Given the description of an element on the screen output the (x, y) to click on. 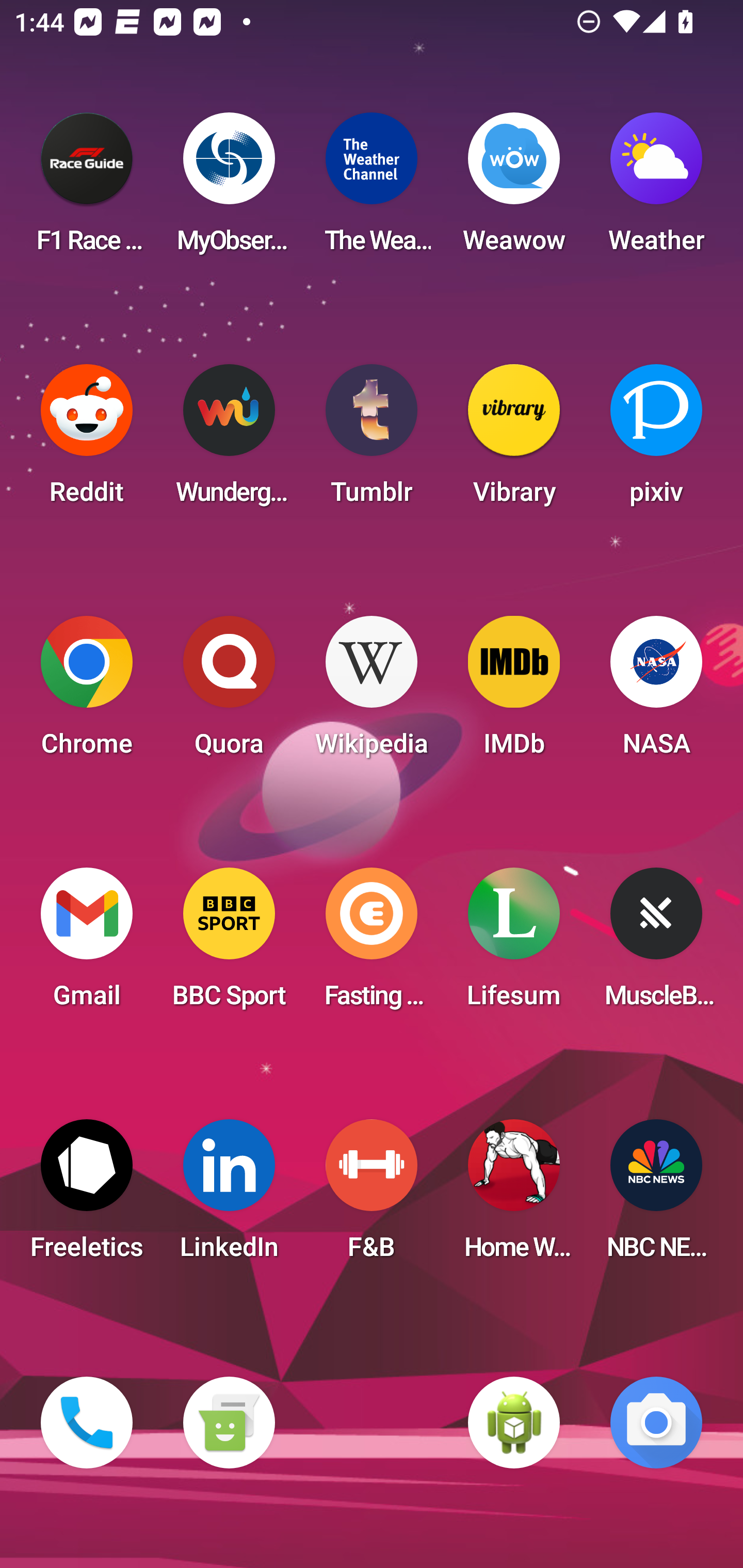
F1 Race Guide (86, 188)
MyObservatory (228, 188)
The Weather Channel (371, 188)
Weawow (513, 188)
Weather (656, 188)
Reddit (86, 440)
Wunderground (228, 440)
Tumblr (371, 440)
Vibrary (513, 440)
pixiv (656, 440)
Chrome (86, 692)
Quora (228, 692)
Wikipedia (371, 692)
IMDb (513, 692)
NASA (656, 692)
Gmail (86, 943)
BBC Sport (228, 943)
Fasting Coach (371, 943)
Lifesum (513, 943)
MuscleBooster (656, 943)
Freeletics (86, 1195)
LinkedIn (228, 1195)
F&B (371, 1195)
Home Workout (513, 1195)
NBC NEWS (656, 1195)
Phone (86, 1422)
Messaging (228, 1422)
WebView Browser Tester (513, 1422)
Camera (656, 1422)
